Given the description of an element on the screen output the (x, y) to click on. 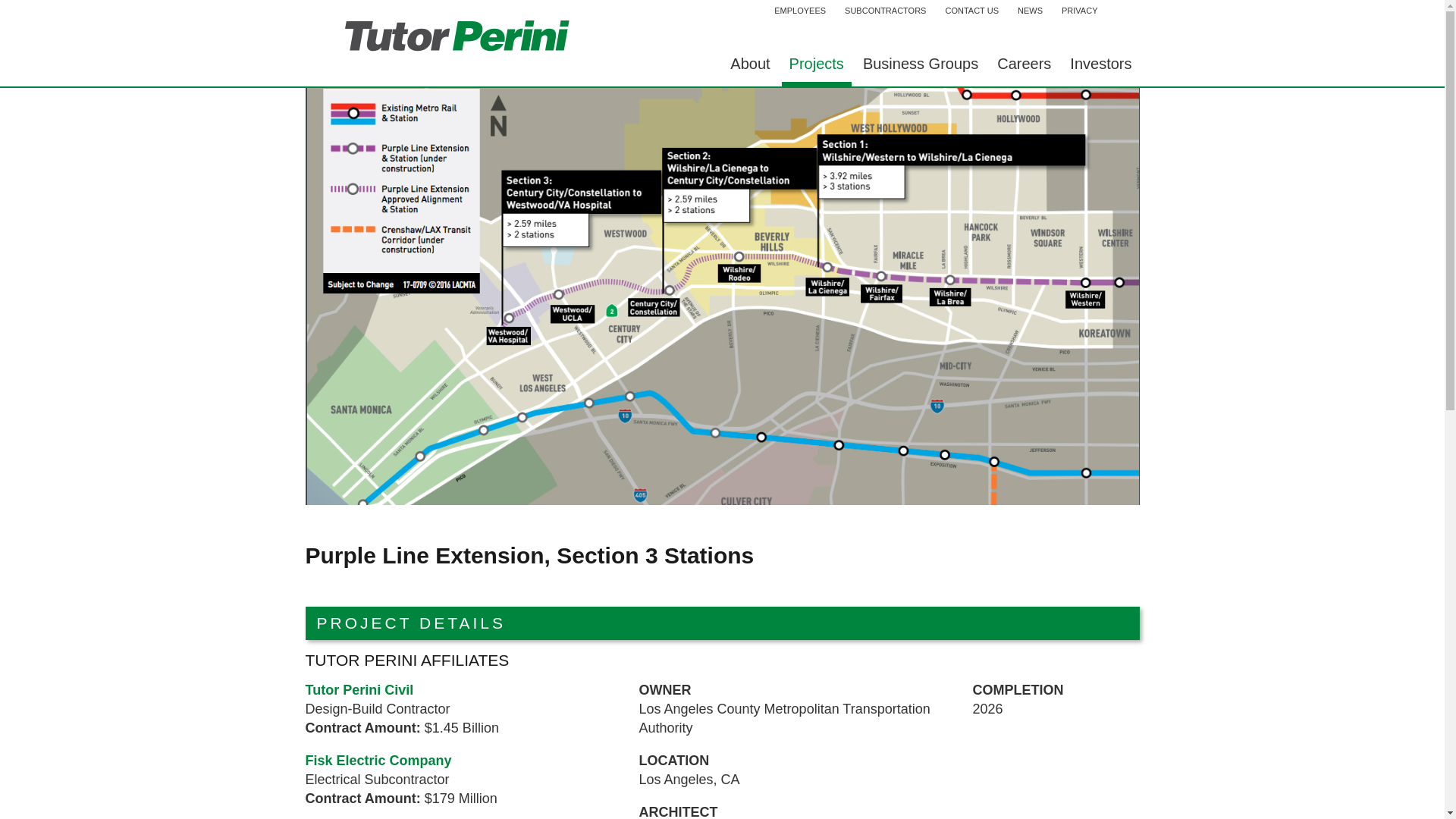
Search This Site (1122, 13)
About (749, 67)
PRIVACY (1079, 11)
Careers (1024, 67)
Investors (1100, 67)
SUBCONTRACTORS (885, 11)
Search This Site (1122, 13)
EMPLOYEES (799, 11)
Business Groups (920, 67)
NEWS (1029, 11)
